Given the description of an element on the screen output the (x, y) to click on. 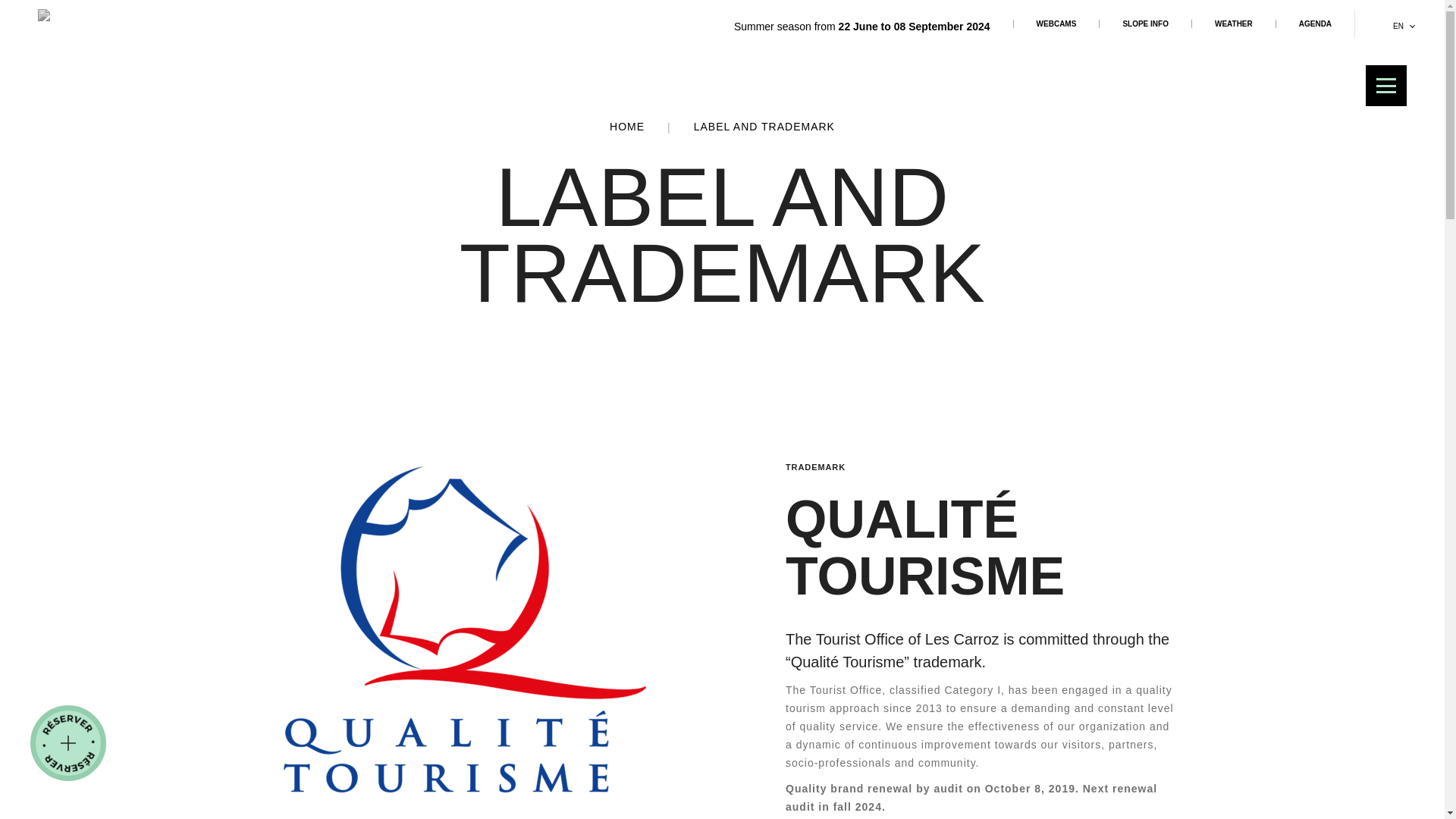
WEBCAMS (1056, 23)
WEATHER (1233, 23)
EN (1404, 26)
SLOPE INFO (1145, 23)
AGENDA (1314, 23)
